Given the description of an element on the screen output the (x, y) to click on. 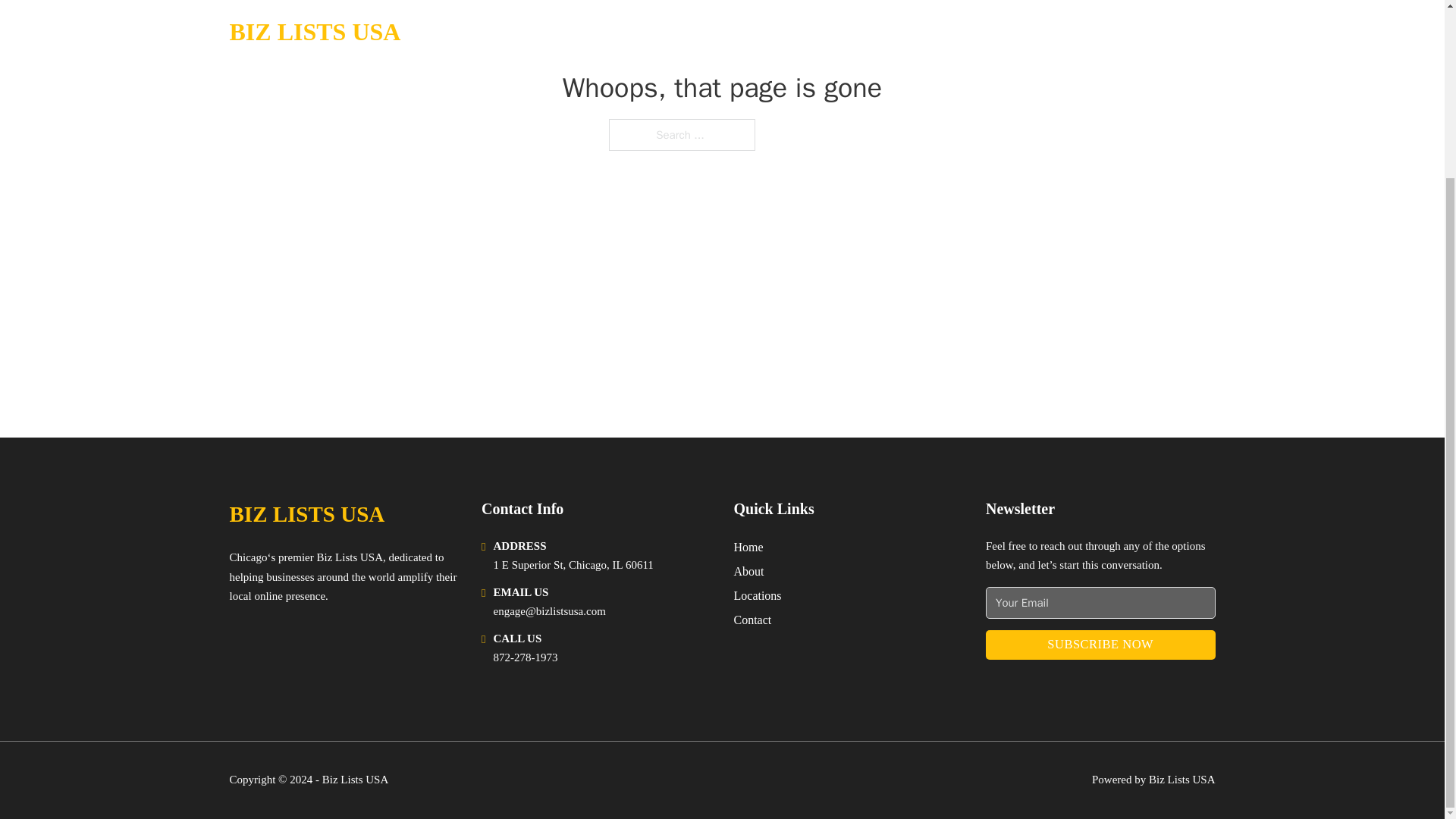
SUBSCRIBE NOW (1100, 644)
Home (747, 547)
Contact (752, 619)
BIZ LISTS USA (306, 514)
Locations (757, 595)
About (748, 571)
872-278-1973 (525, 657)
